Given the description of an element on the screen output the (x, y) to click on. 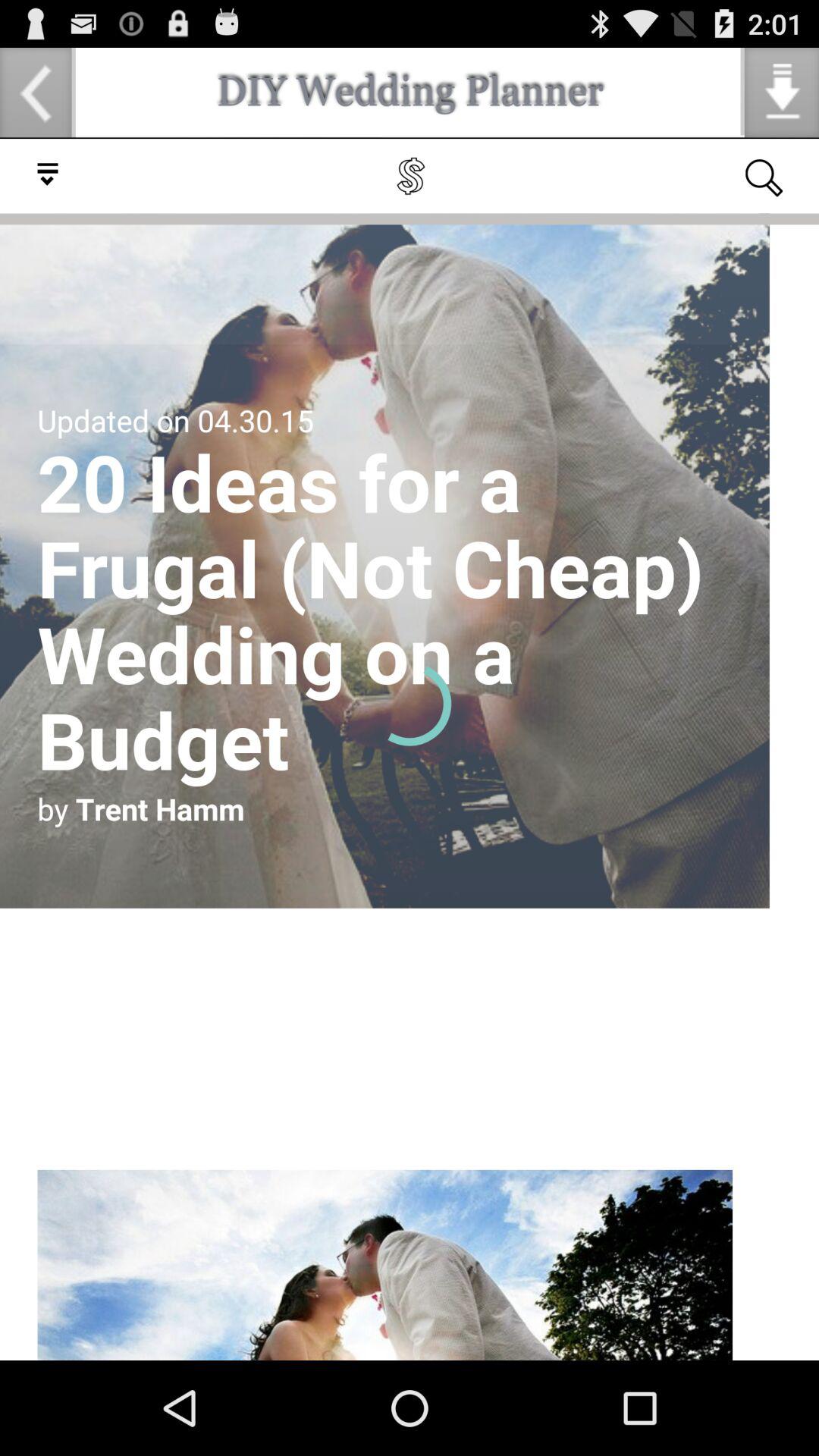
click for article (409, 749)
